Given the description of an element on the screen output the (x, y) to click on. 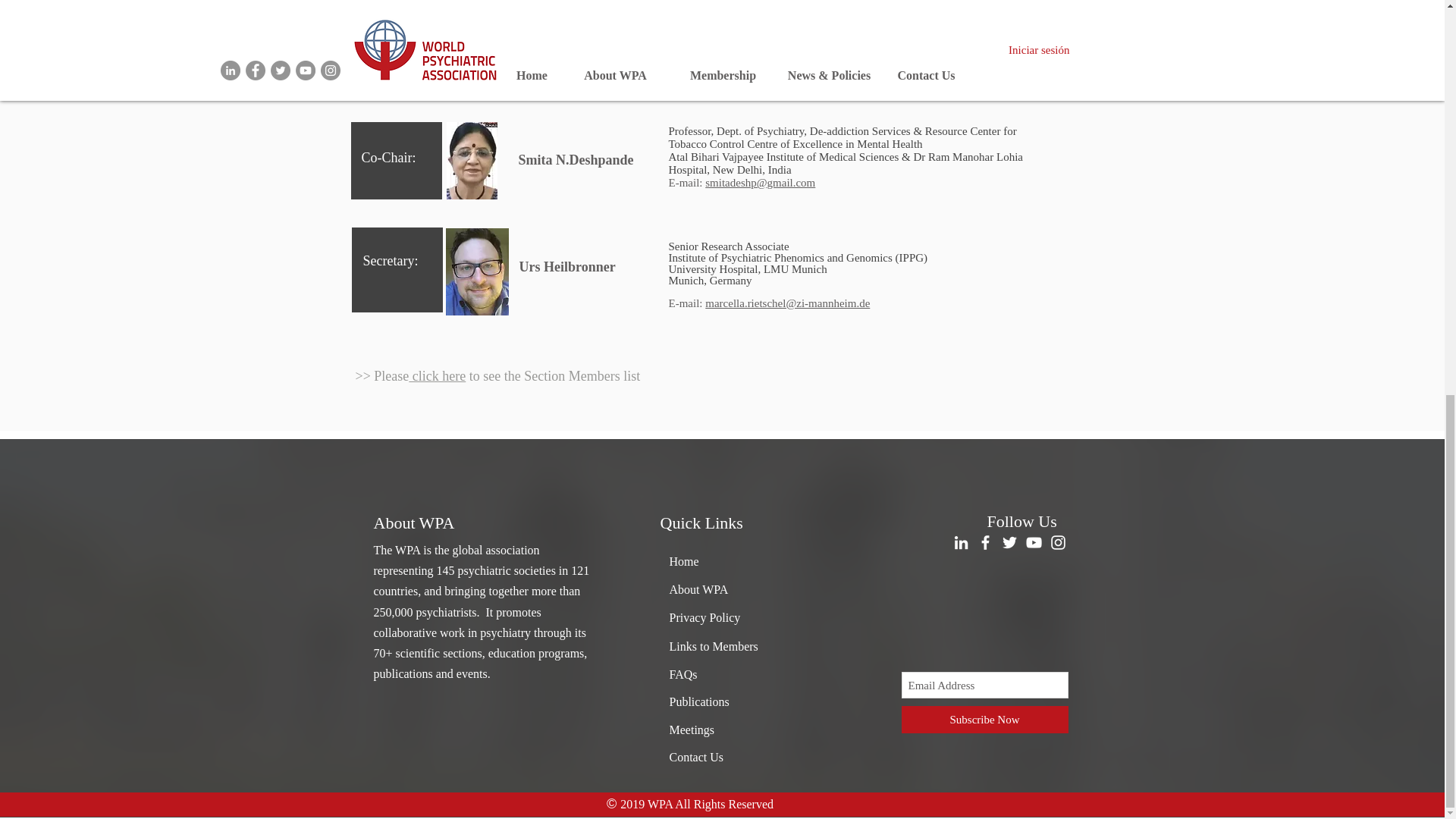
click here (437, 376)
E-mail:  (687, 78)
Home (683, 561)
Meetings (691, 729)
Subscribe Now (984, 719)
Links to Members (712, 645)
About WPA (698, 589)
Privacy Policy (703, 617)
FAQs (682, 674)
Publications (698, 701)
